Given the description of an element on the screen output the (x, y) to click on. 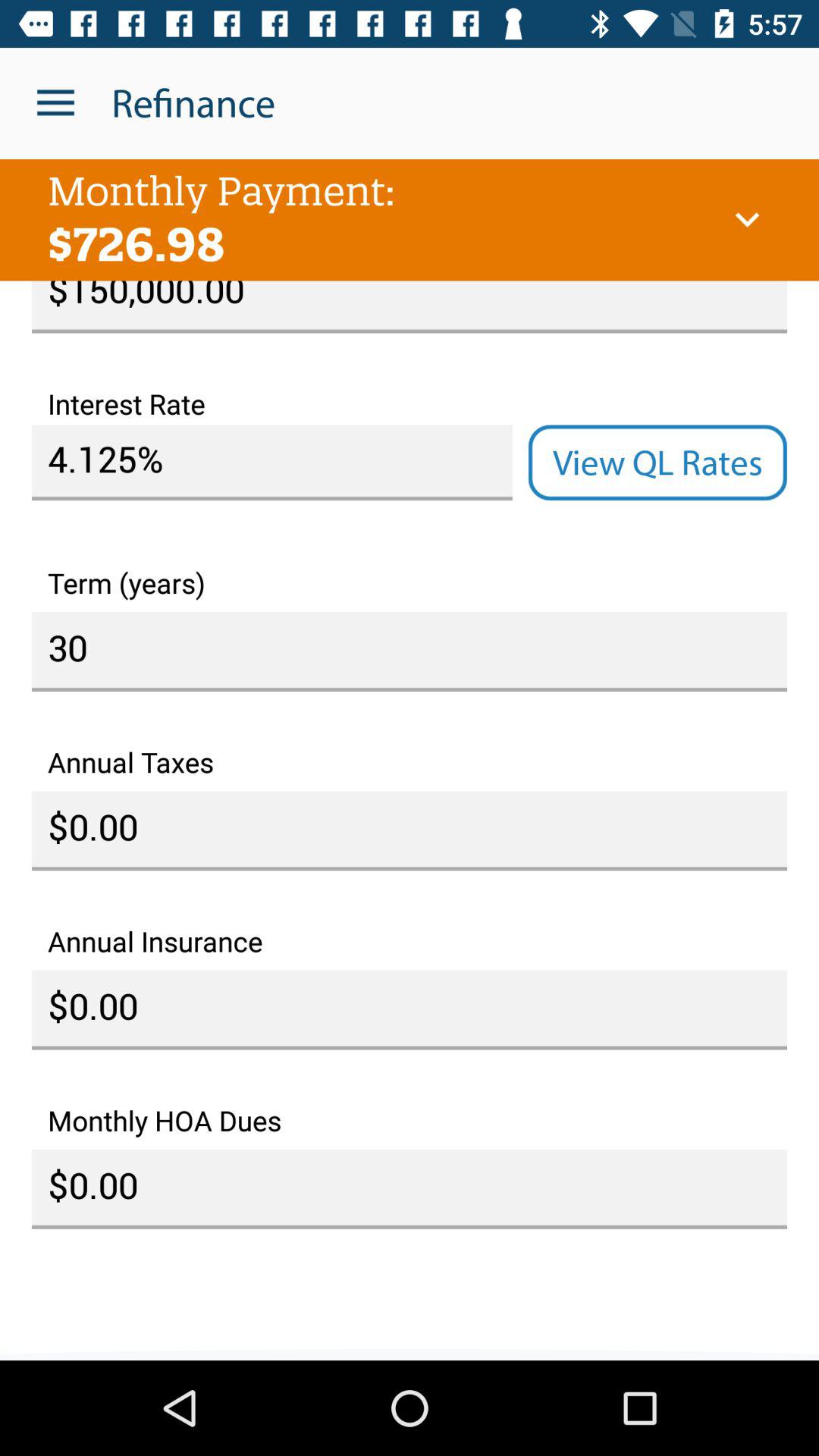
turn on icon below the interest rate item (271, 462)
